Given the description of an element on the screen output the (x, y) to click on. 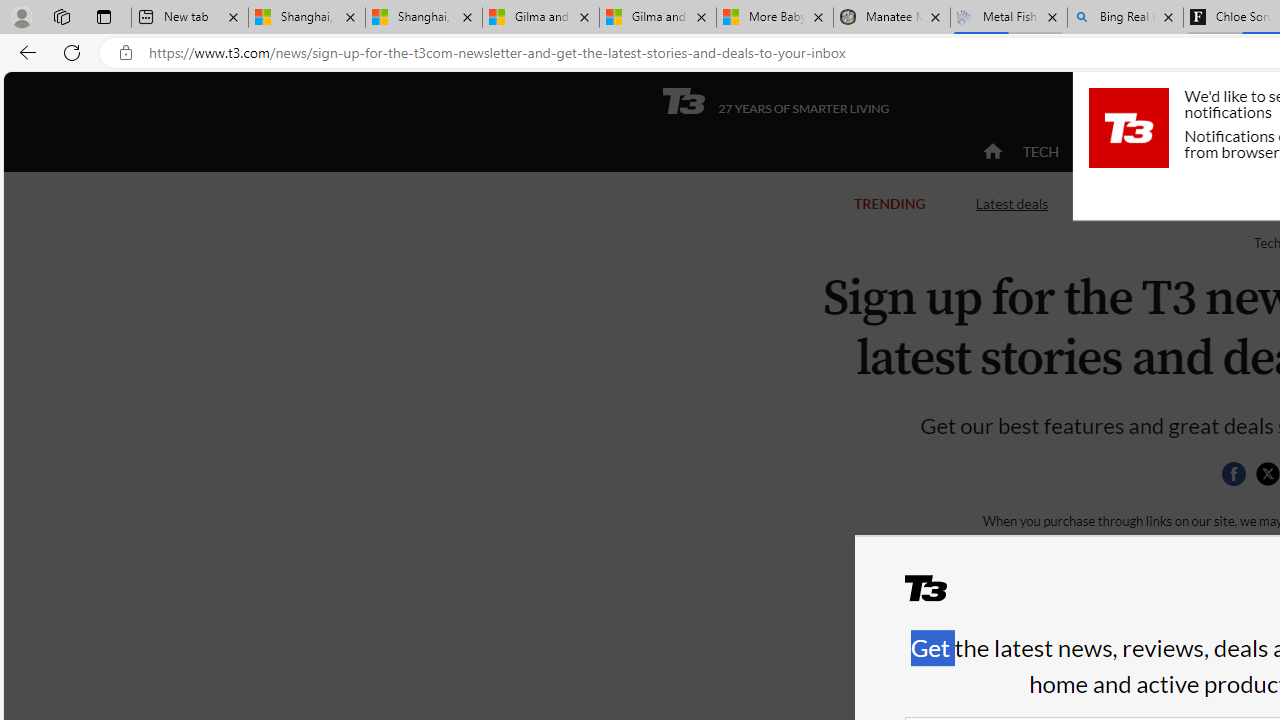
T3 (937, 595)
home (992, 152)
Workspaces (61, 16)
Class: icon-svg (1267, 474)
